Given the description of an element on the screen output the (x, y) to click on. 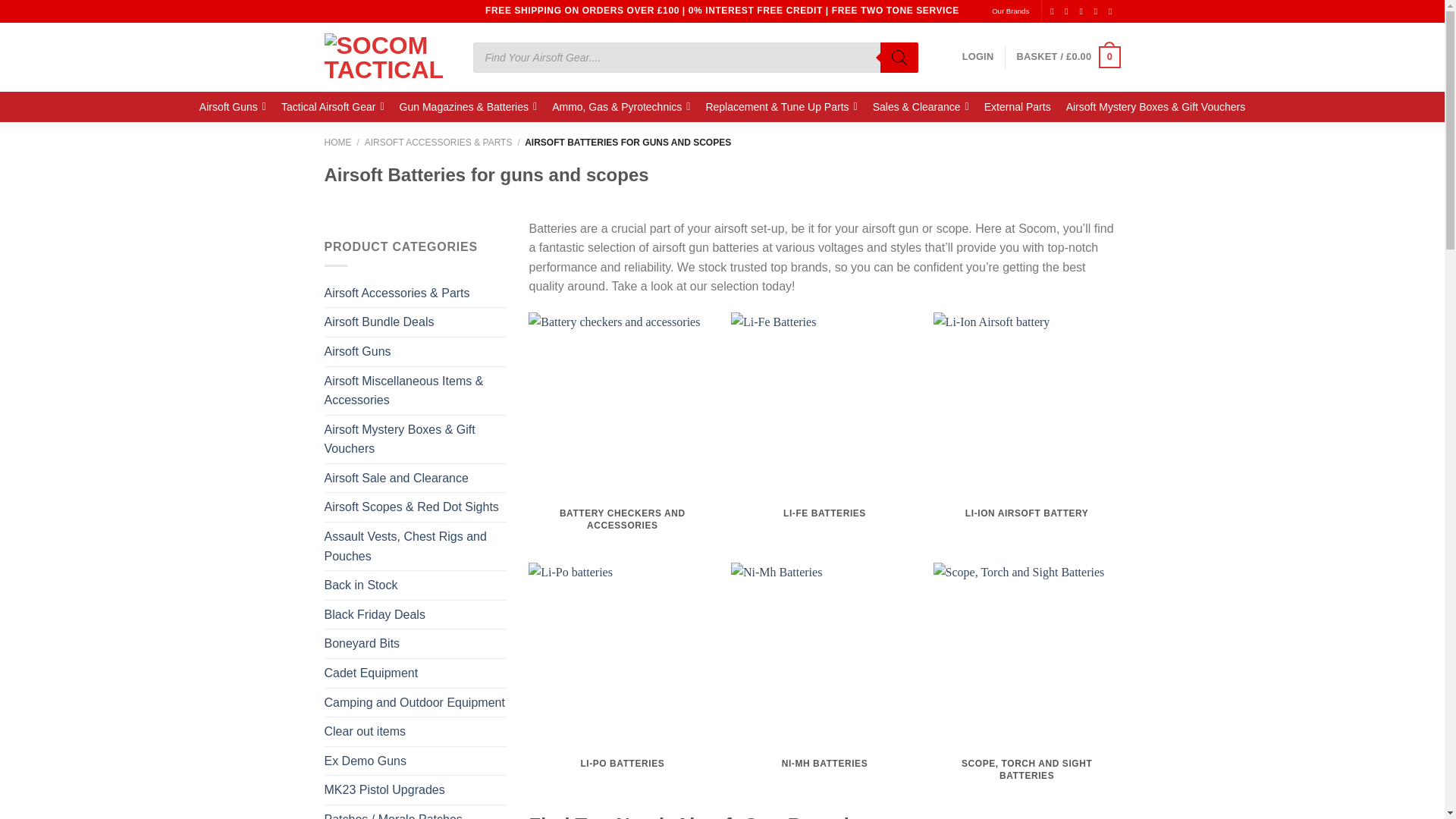
Tactical Airsoft Gear (332, 106)
Our Brands (1010, 10)
Airsoft Guns (232, 106)
LOGIN (978, 56)
Basket (1067, 57)
